Given the description of an element on the screen output the (x, y) to click on. 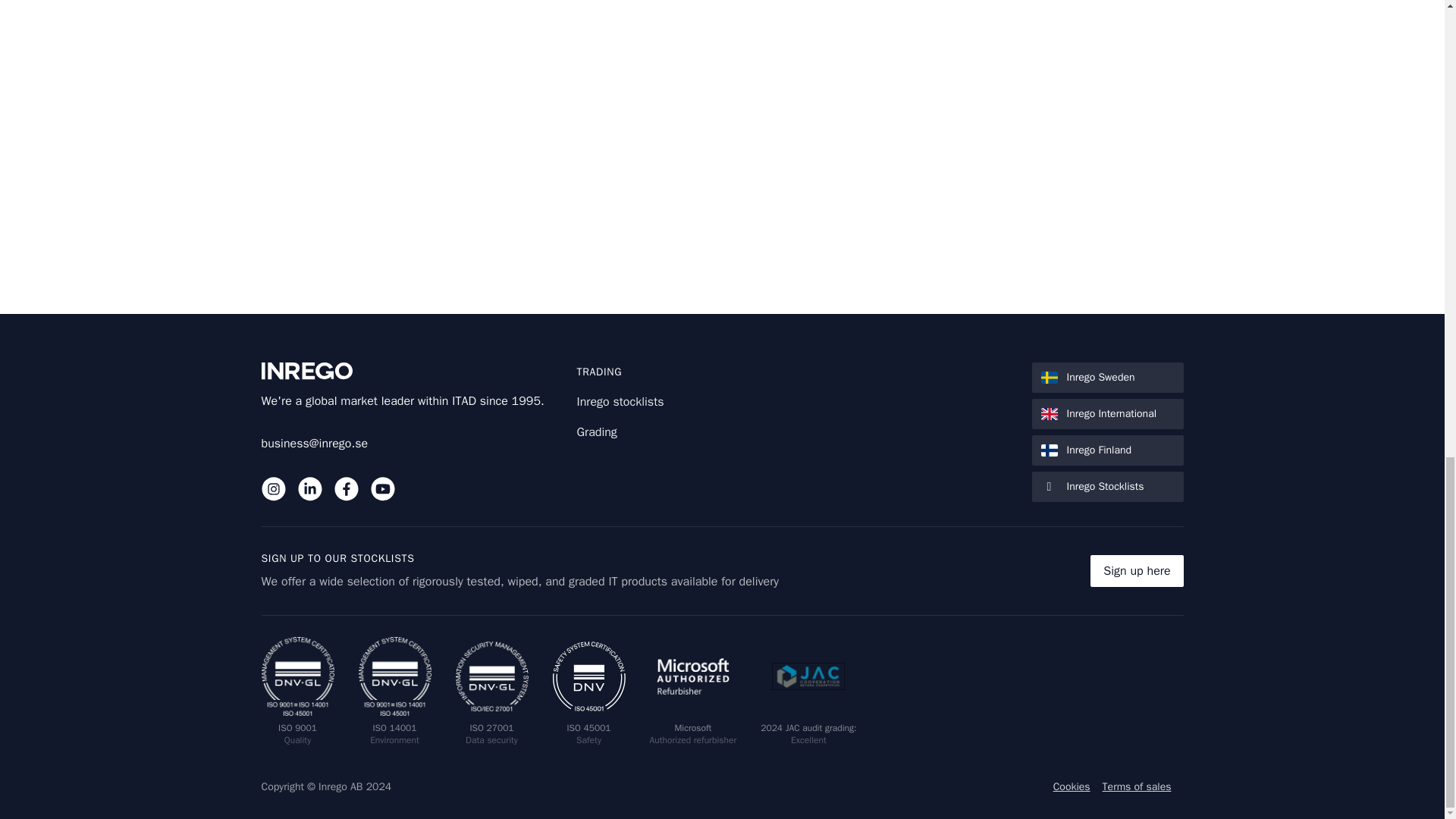
Sign up here (1136, 571)
Grading (595, 432)
Inrego Sweden (1106, 377)
Inrego stocklists (309, 488)
Terms of sales (1137, 786)
Inrego stocklists (272, 488)
TRADING (598, 371)
Inrego International (1106, 413)
Inrego (405, 371)
Inrego Finland (1106, 450)
